Given the description of an element on the screen output the (x, y) to click on. 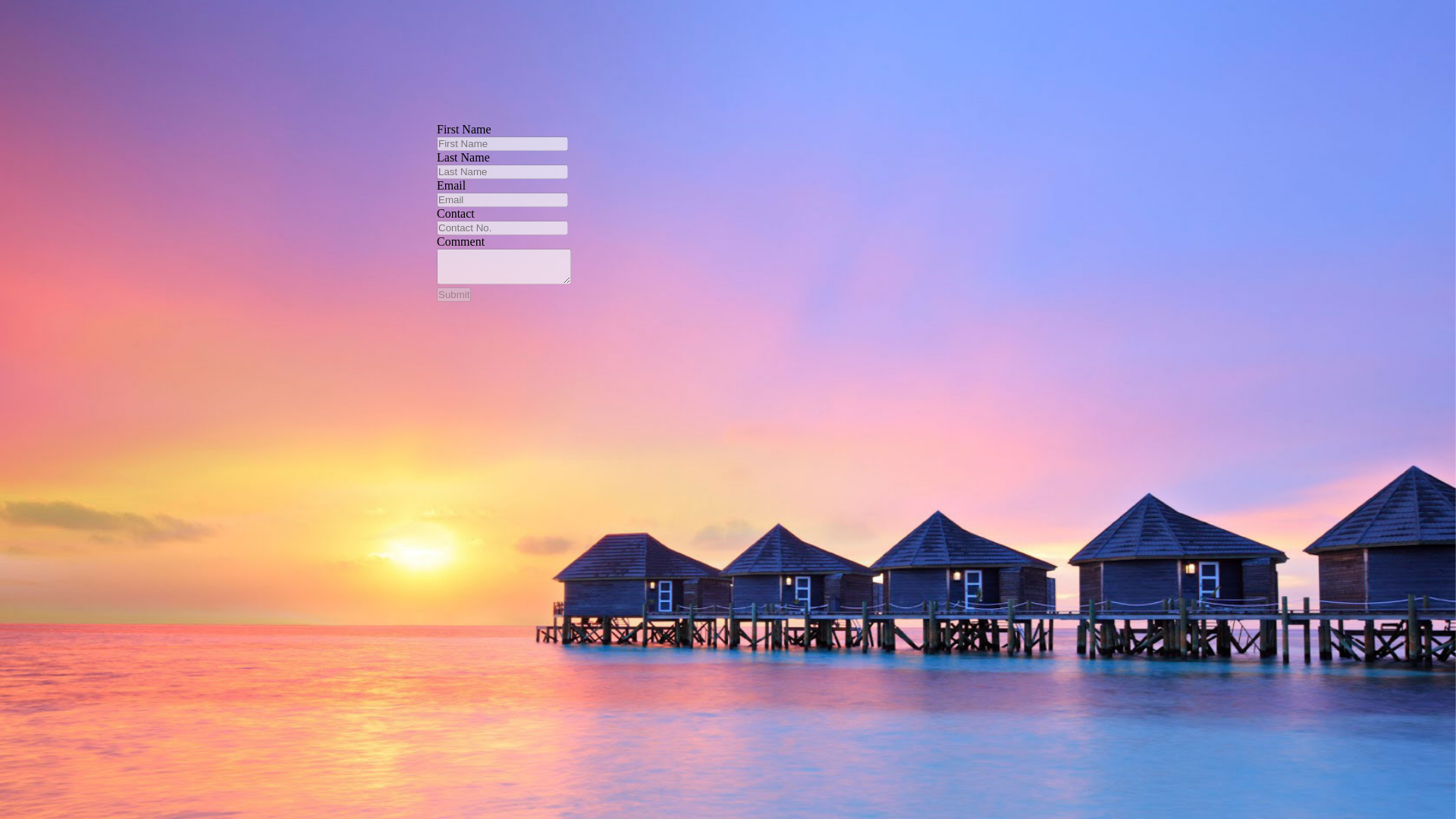
Submit (453, 294)
my web page (494, 256)
Sitemap (19, 373)
Home (14, 387)
walbergdesign.com (986, 278)
